Given the description of an element on the screen output the (x, y) to click on. 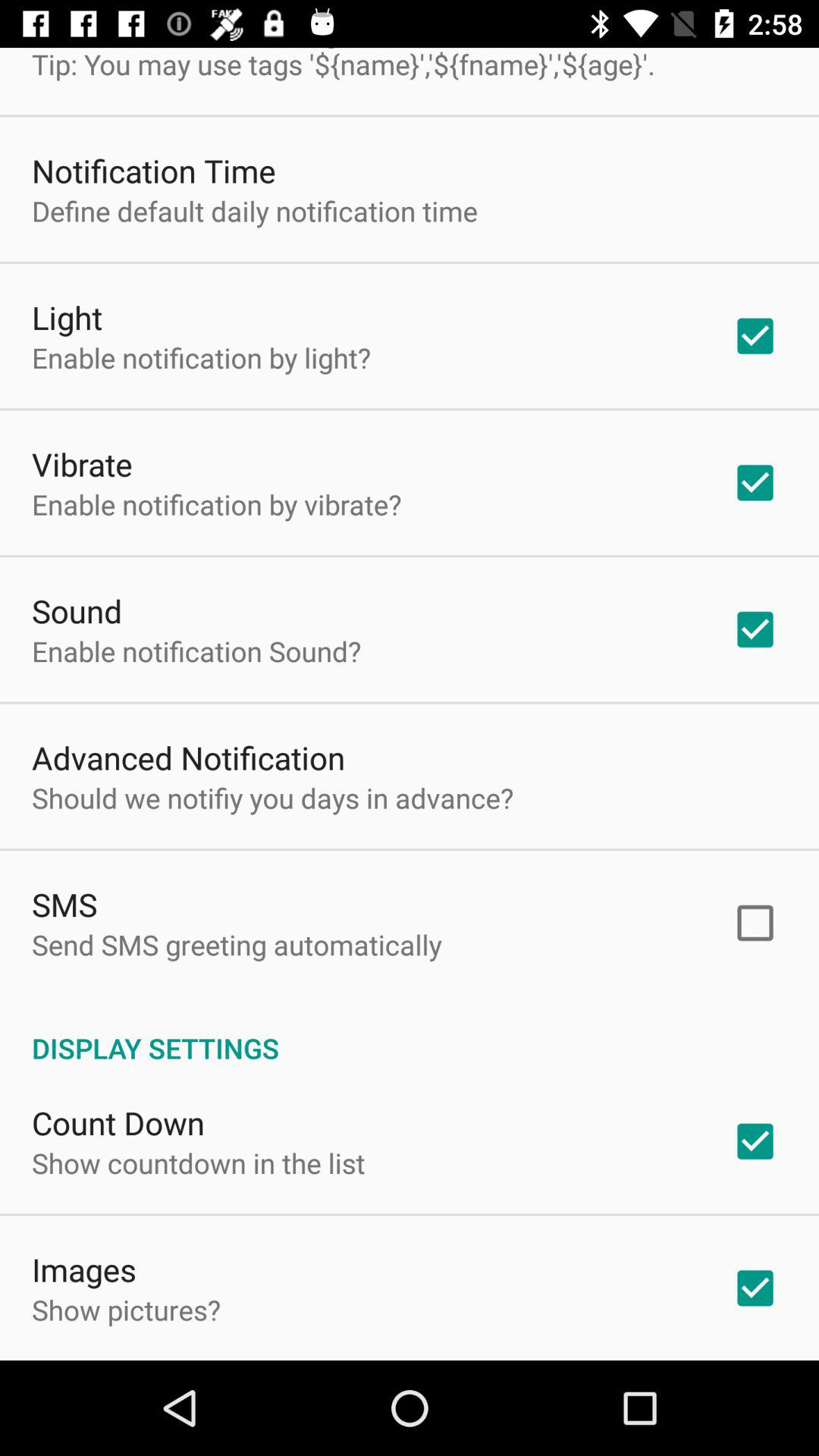
open item above the display settings app (236, 944)
